Given the description of an element on the screen output the (x, y) to click on. 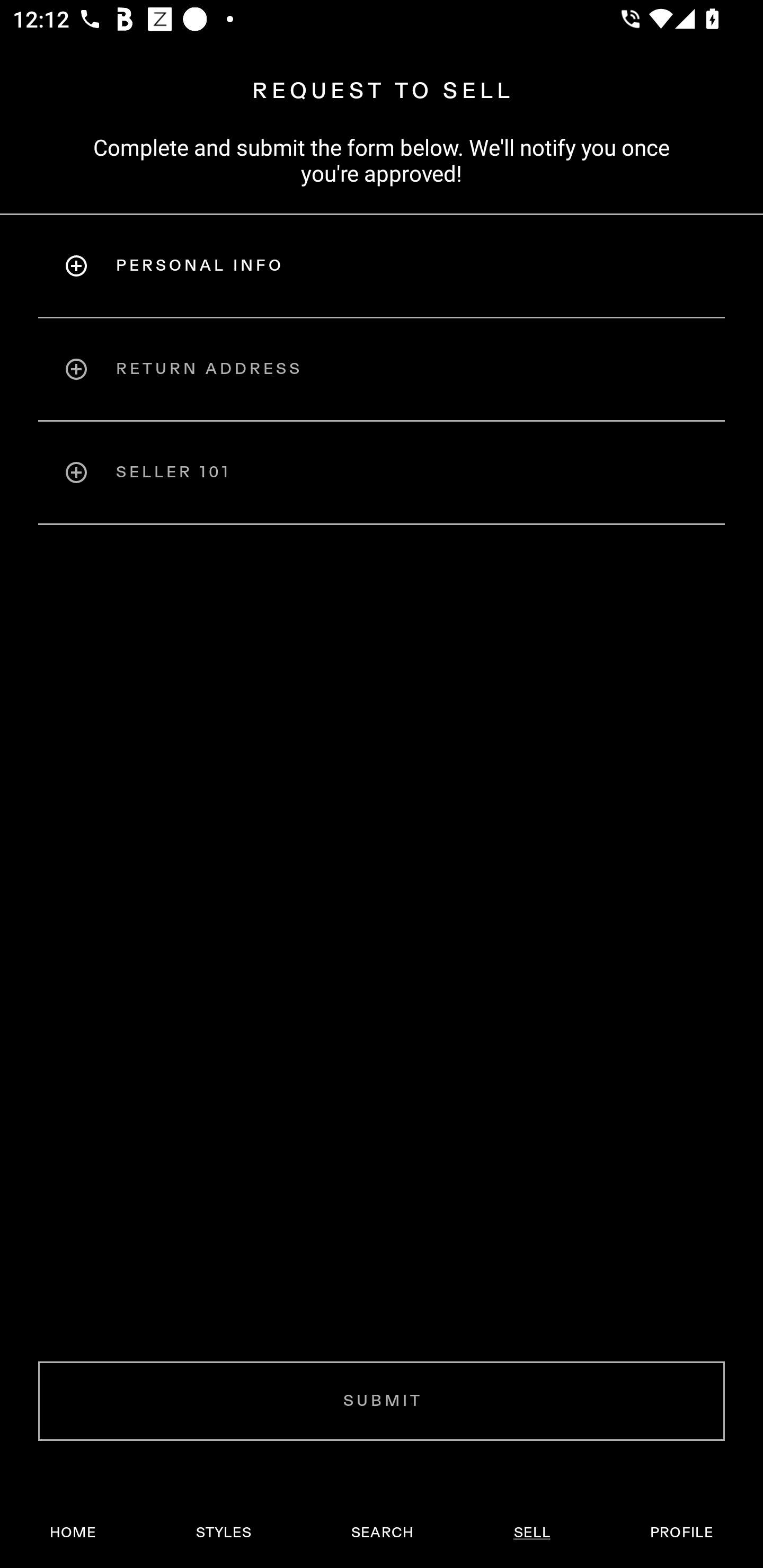
PERSONAL INFO (381, 265)
RETURN ADDRESS (381, 369)
SELLER 101 (381, 472)
SUBMIT (381, 1400)
HOME (72, 1532)
STYLES (222, 1532)
SEARCH (381, 1532)
SELL (531, 1532)
PROFILE (681, 1532)
